Given the description of an element on the screen output the (x, y) to click on. 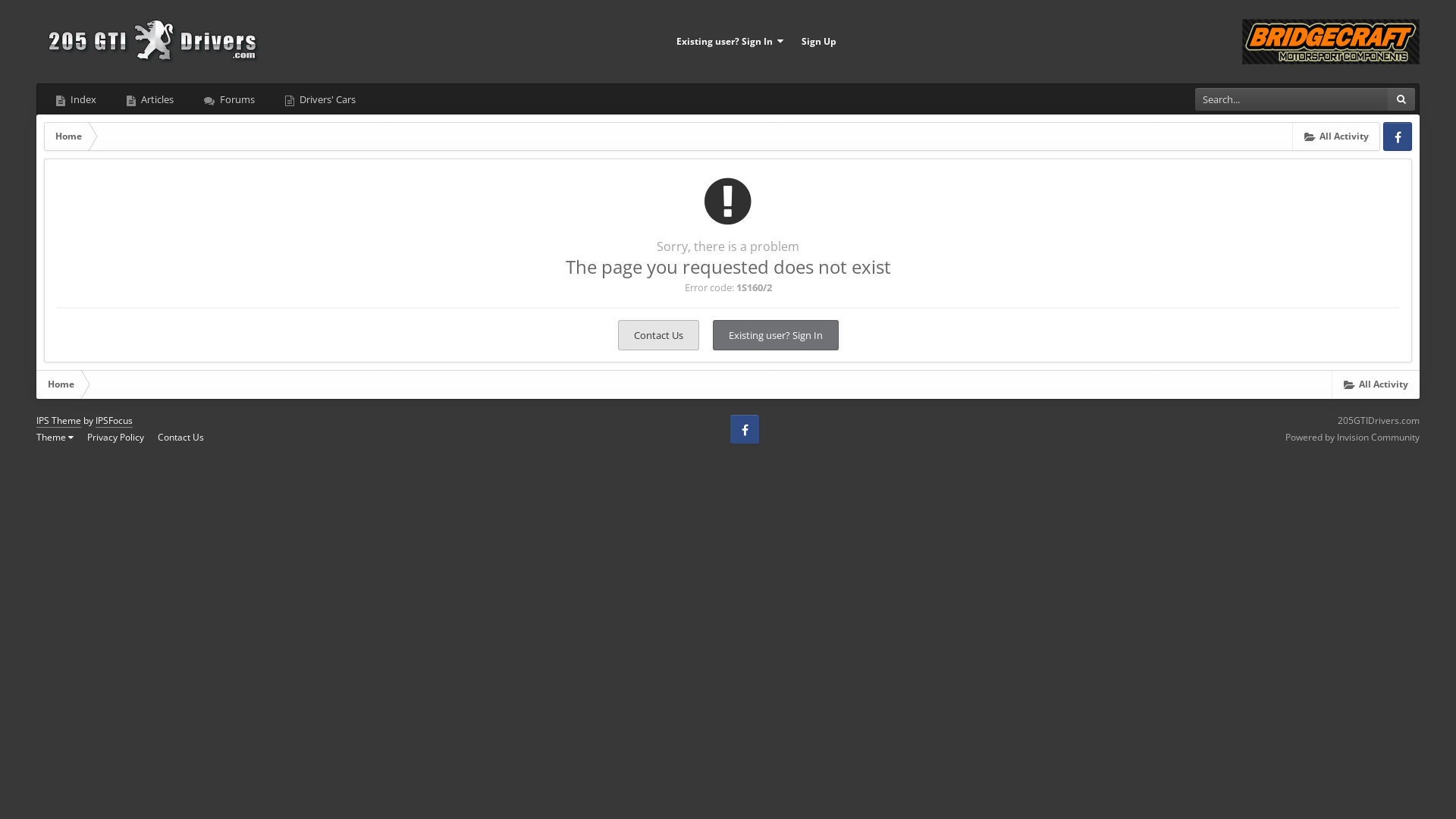
Existing user? Sign In   Element type: text (729, 41)
All Activity Element type: text (1375, 384)
IPSFocus Element type: text (113, 420)
Contact Us Element type: text (657, 335)
Home Element type: text (60, 384)
Articles Element type: text (149, 99)
Privacy Policy Element type: text (115, 436)
Existing user? Sign In Element type: text (775, 335)
Powered by Invision Community Element type: text (1352, 436)
All Activity Element type: text (1336, 136)
IPS Theme Element type: text (58, 420)
Forums Element type: text (228, 99)
Facebook Element type: text (744, 428)
Index Element type: text (75, 99)
Facebook Element type: text (1397, 136)
Drivers' Cars Element type: text (319, 99)
Sign Up Element type: text (817, 41)
Contact Us Element type: text (180, 436)
Theme Element type: text (54, 436)
Home Element type: text (68, 136)
